Given the description of an element on the screen output the (x, y) to click on. 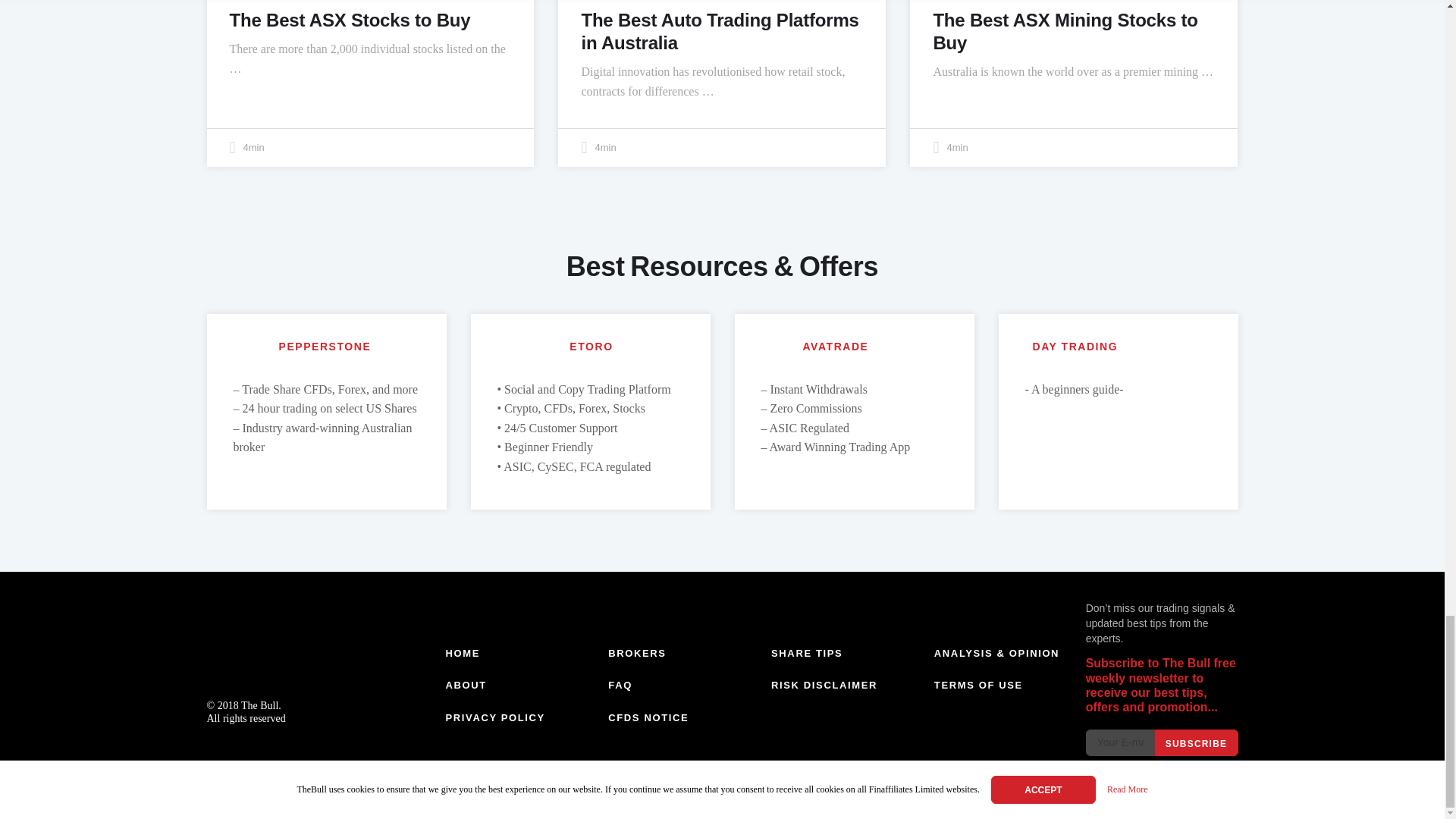
The Best Auto Trading Platforms in Australia (719, 31)
The Best ASX Stocks to Buy (349, 19)
Subscribe (1195, 742)
